Given the description of an element on the screen output the (x, y) to click on. 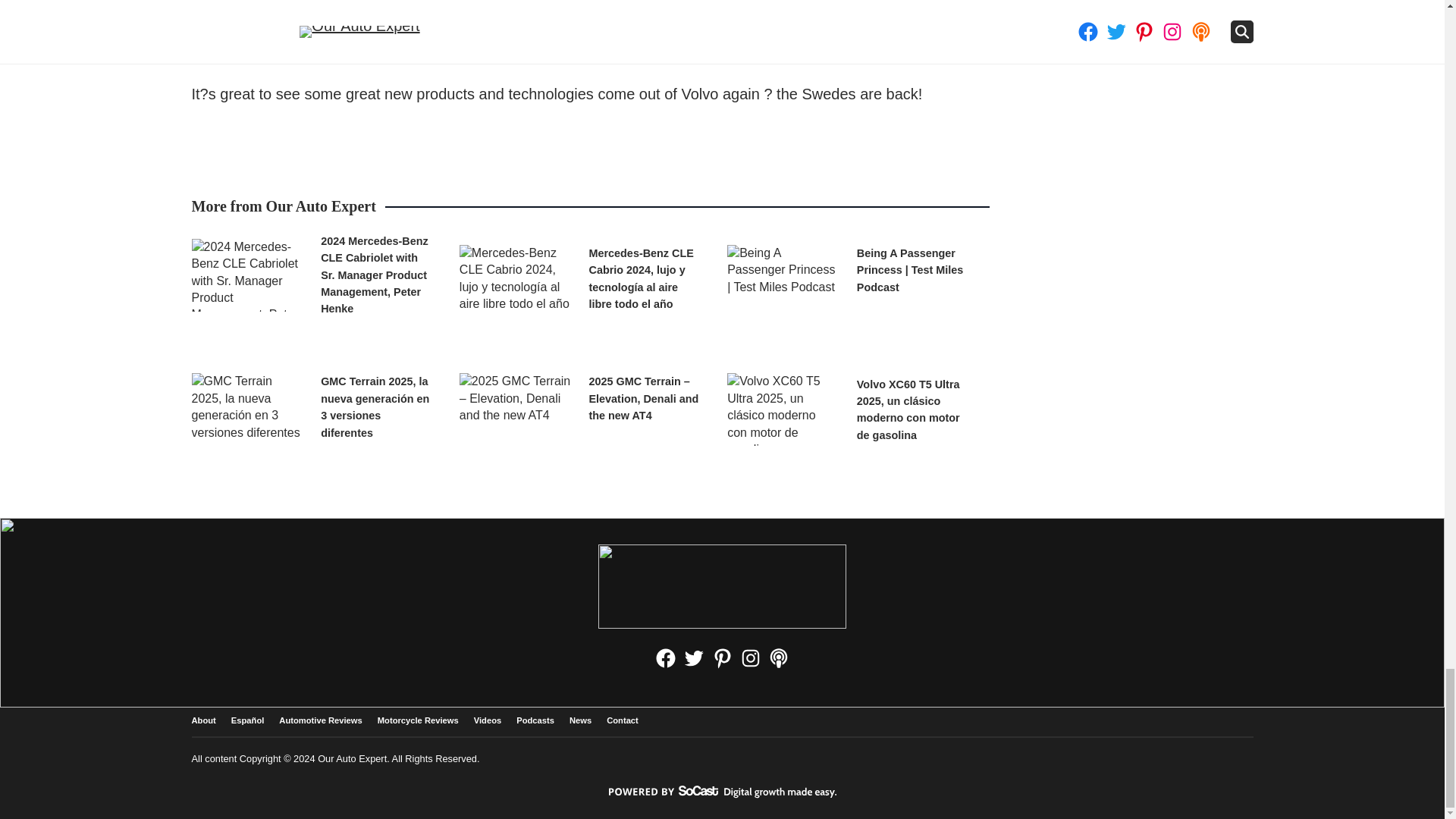
Automotive Reviews (320, 720)
Videos (487, 720)
Motorcycle Reviews (417, 720)
Powered By SoCast (721, 791)
About (202, 720)
